Given the description of an element on the screen output the (x, y) to click on. 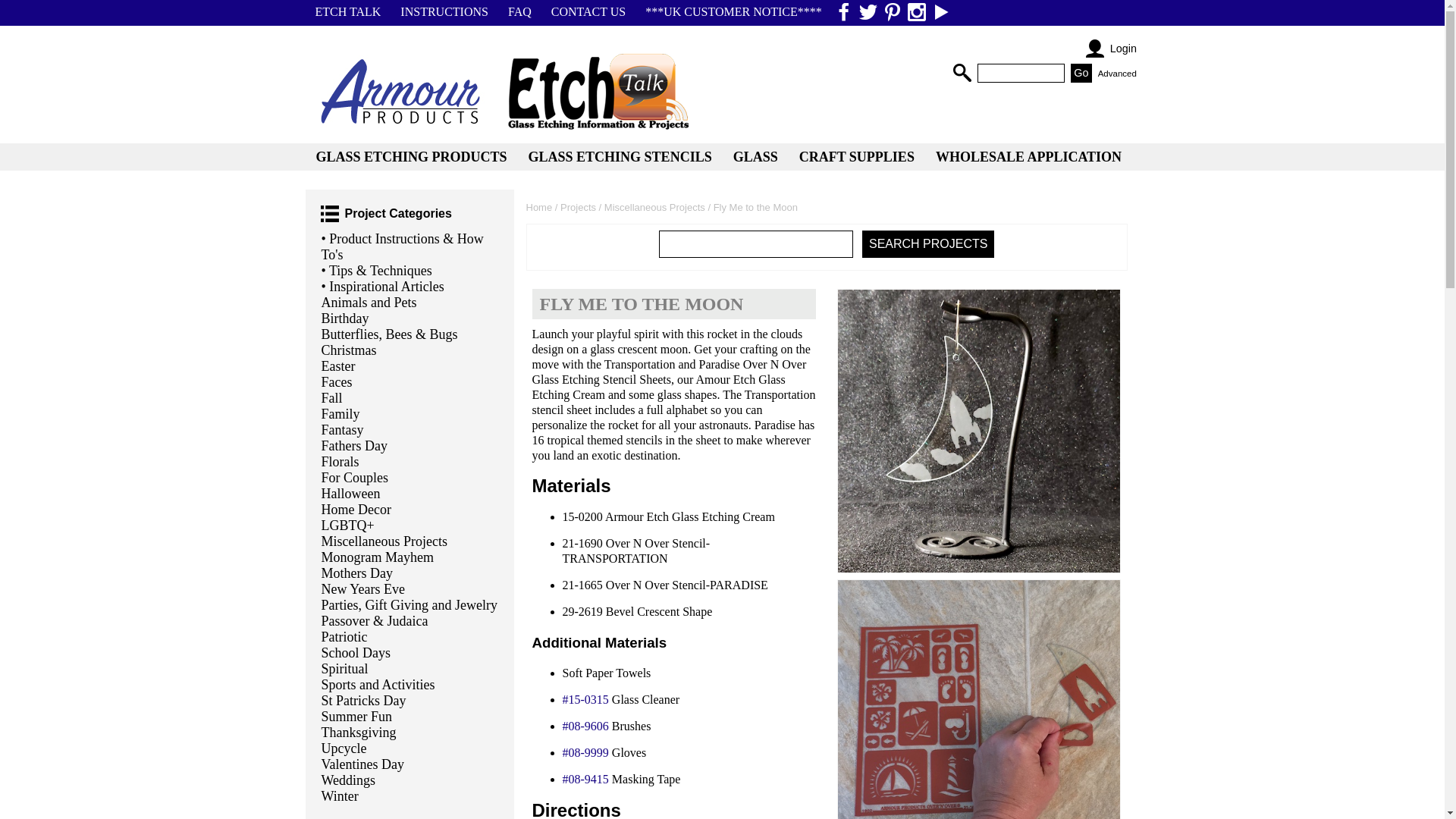
Facebook (843, 12)
New Years Eve (409, 589)
Search Projects (927, 243)
Easter (409, 366)
Home Decor (409, 509)
Fantasy (409, 430)
Contact Us (587, 12)
Birthday (409, 318)
Parties, Gift Giving and Jewelry (409, 605)
Florals (409, 462)
